Given the description of an element on the screen output the (x, y) to click on. 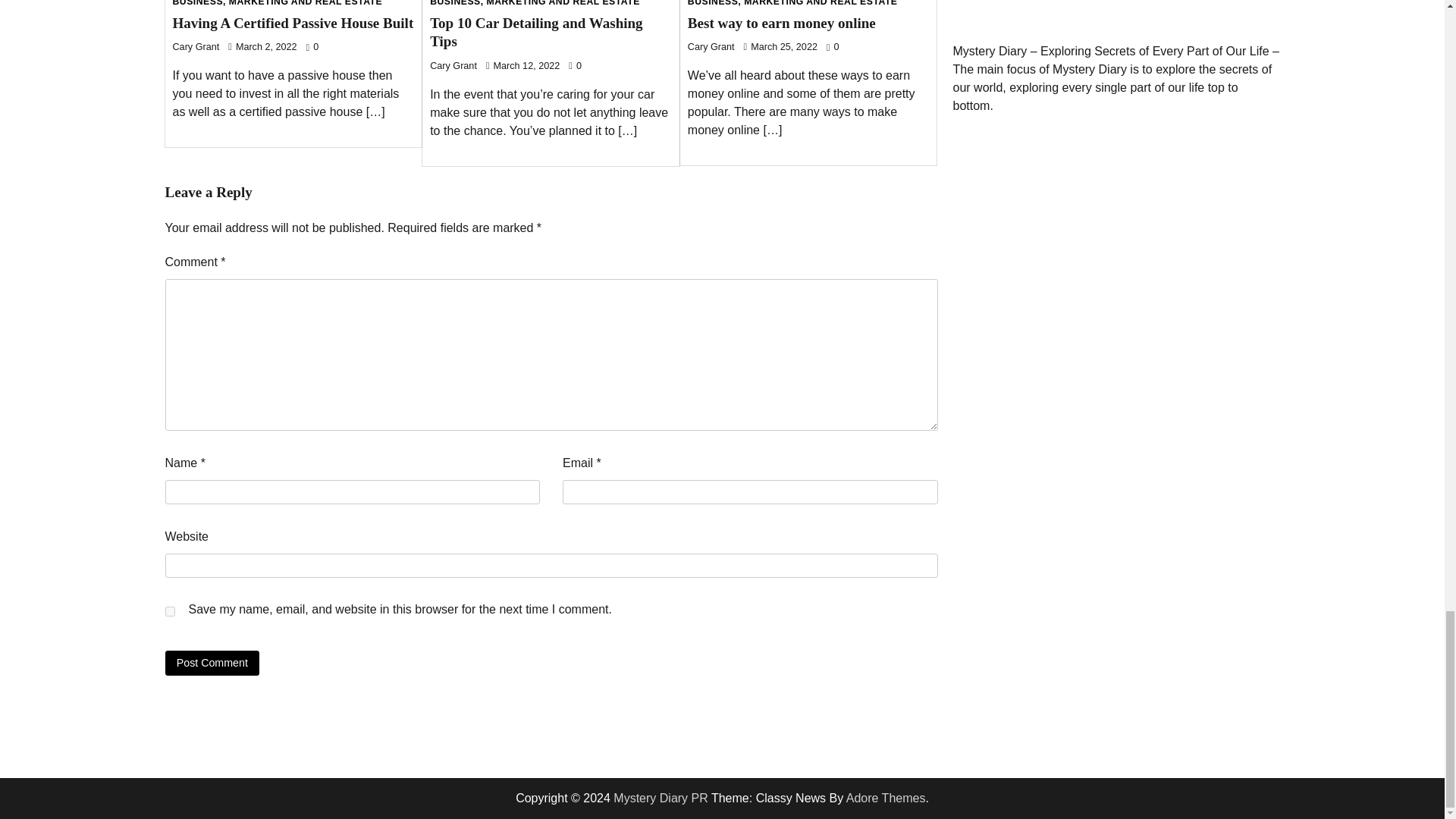
BUSINESS, MARKETING AND REAL ESTATE (792, 2)
Having A Certified Passive House Built (293, 23)
Post Comment (212, 662)
BUSINESS, MARKETING AND REAL ESTATE (534, 2)
Cary Grant (711, 46)
Cary Grant (196, 46)
Post Comment (212, 662)
Top 10 Car Detailing and Washing Tips (535, 32)
Best way to earn money online (781, 23)
Cary Grant (453, 65)
yes (169, 611)
BUSINESS, MARKETING AND REAL ESTATE (277, 2)
Mystery Diary PR (659, 797)
